Given the description of an element on the screen output the (x, y) to click on. 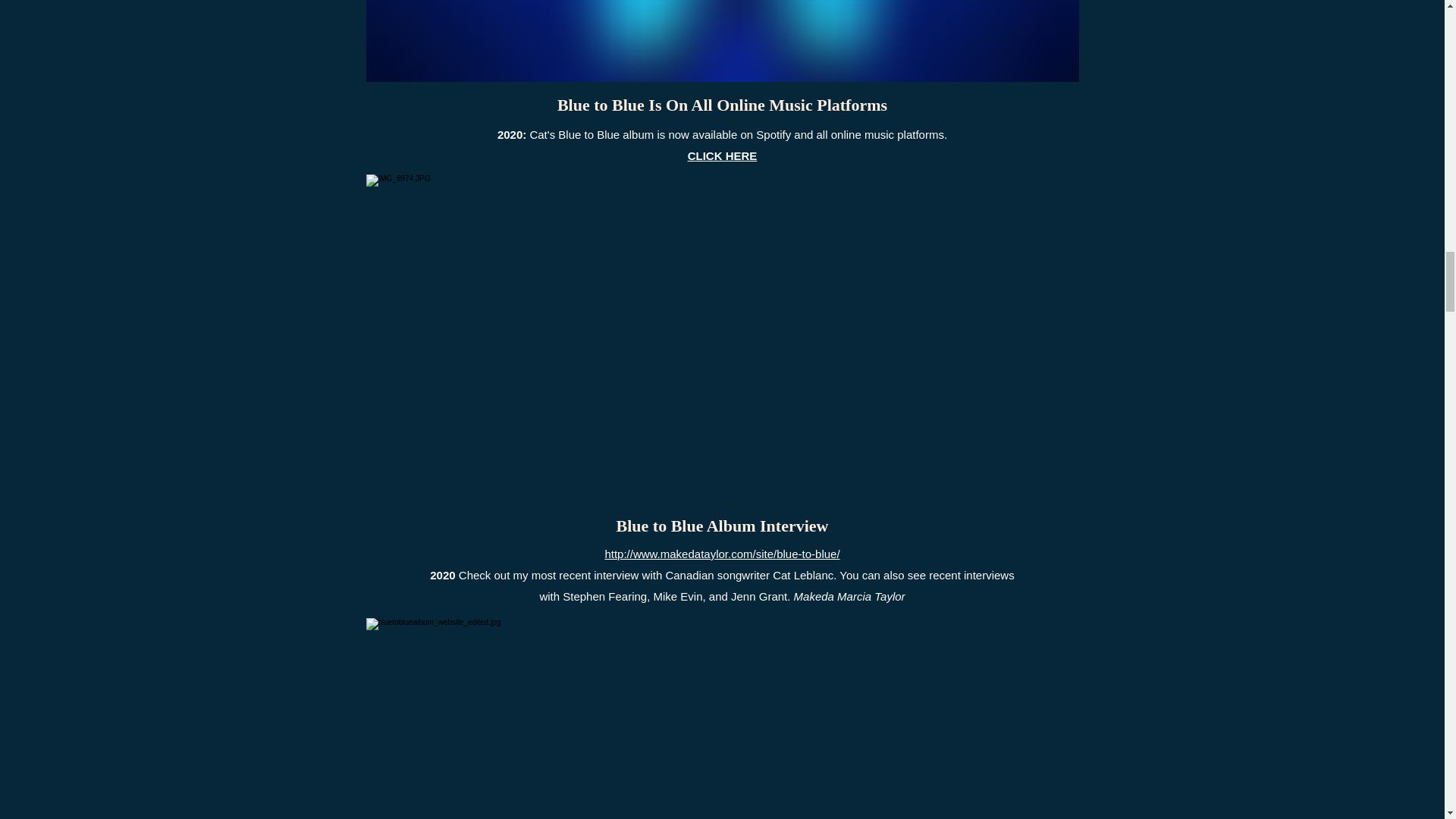
CLICK HERE (722, 155)
